Given the description of an element on the screen output the (x, y) to click on. 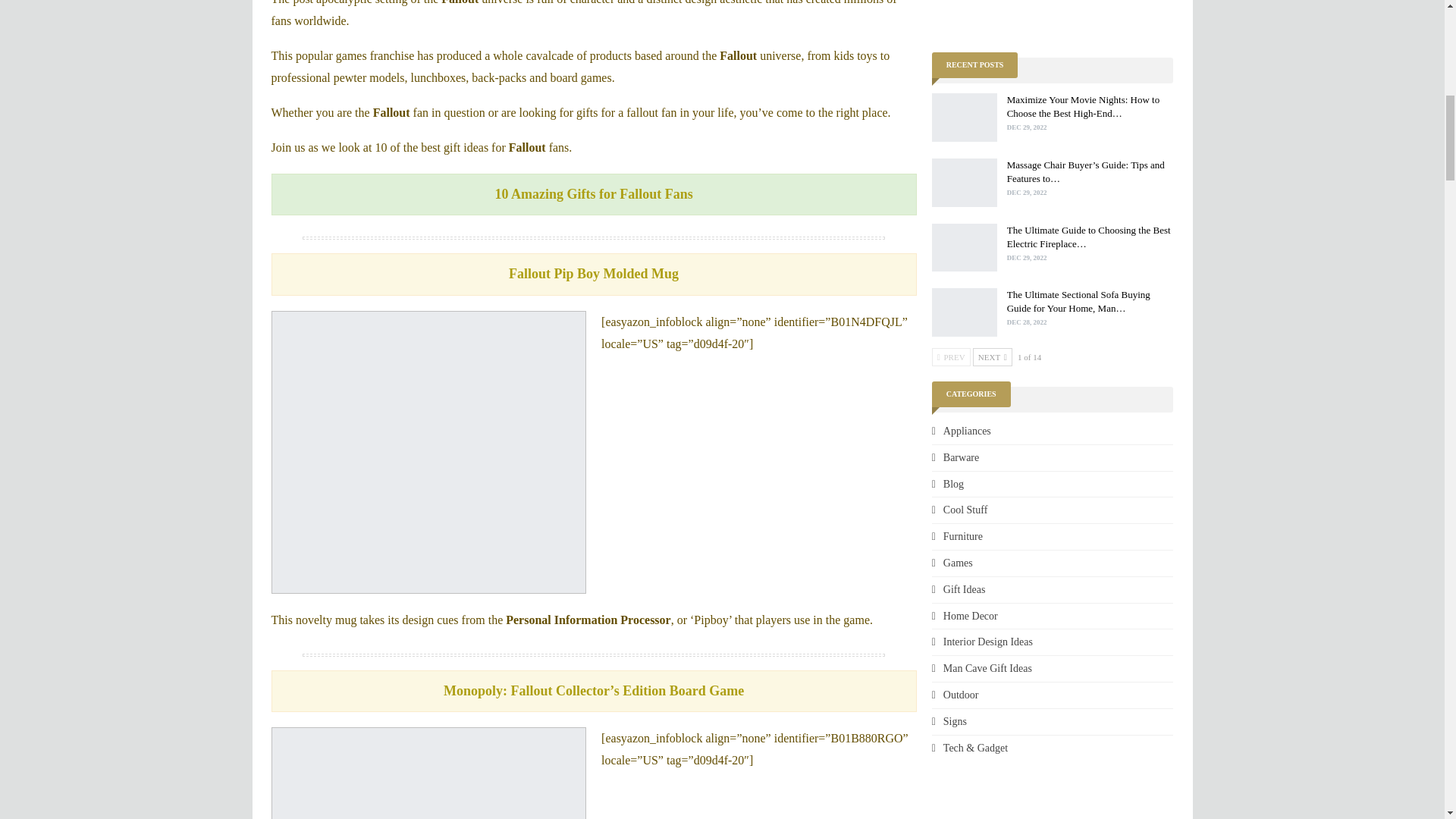
Advertisement (1058, 15)
Next (991, 357)
Previous (951, 357)
